Given the description of an element on the screen output the (x, y) to click on. 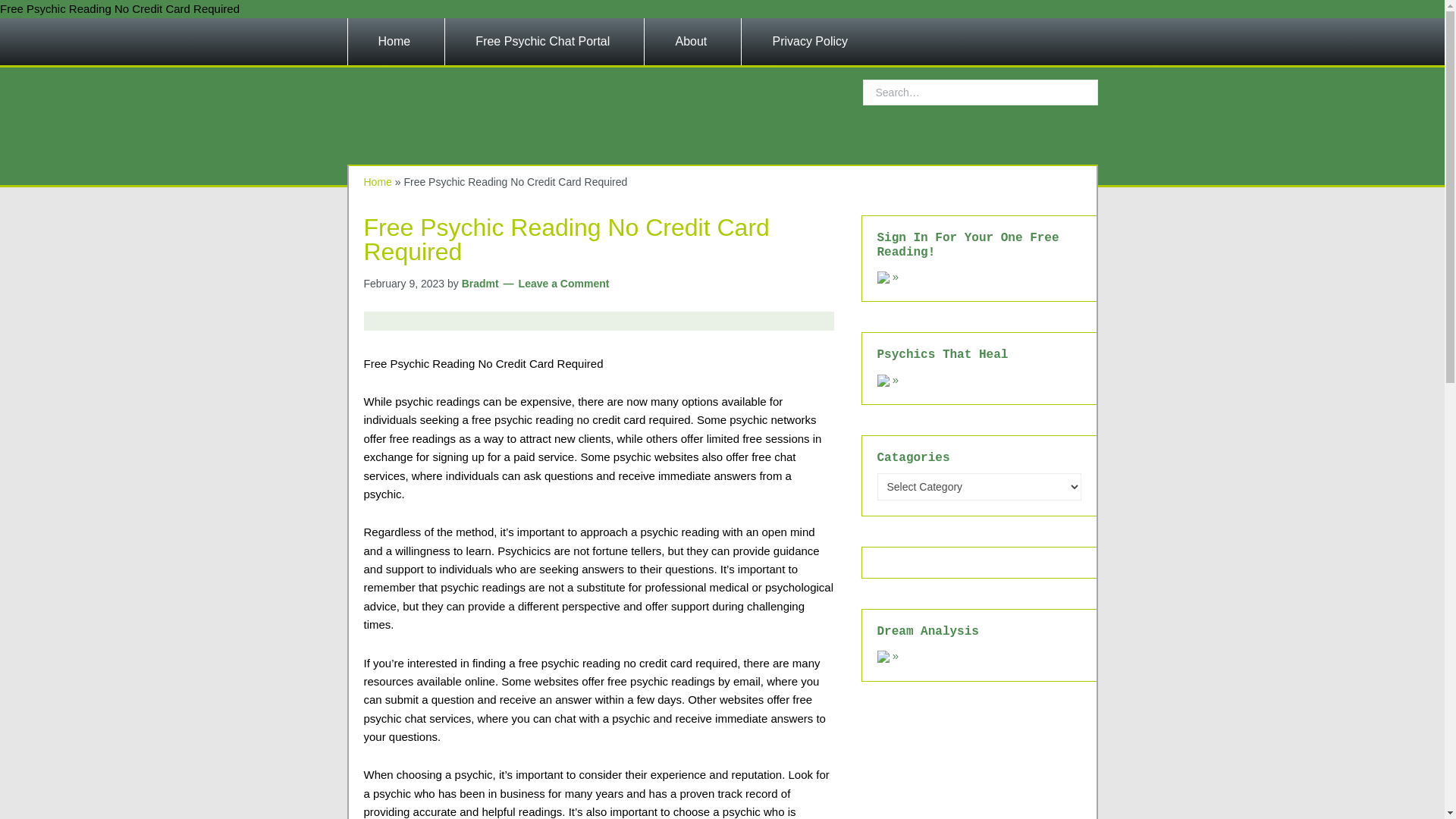
Bradmt (480, 283)
Privacy Policy (811, 41)
Leave a Comment (556, 283)
Free Psychic Readings No Credit Card Required (483, 105)
Home (396, 41)
Free Psychic Chat Portal (545, 41)
About (693, 41)
